Given the description of an element on the screen output the (x, y) to click on. 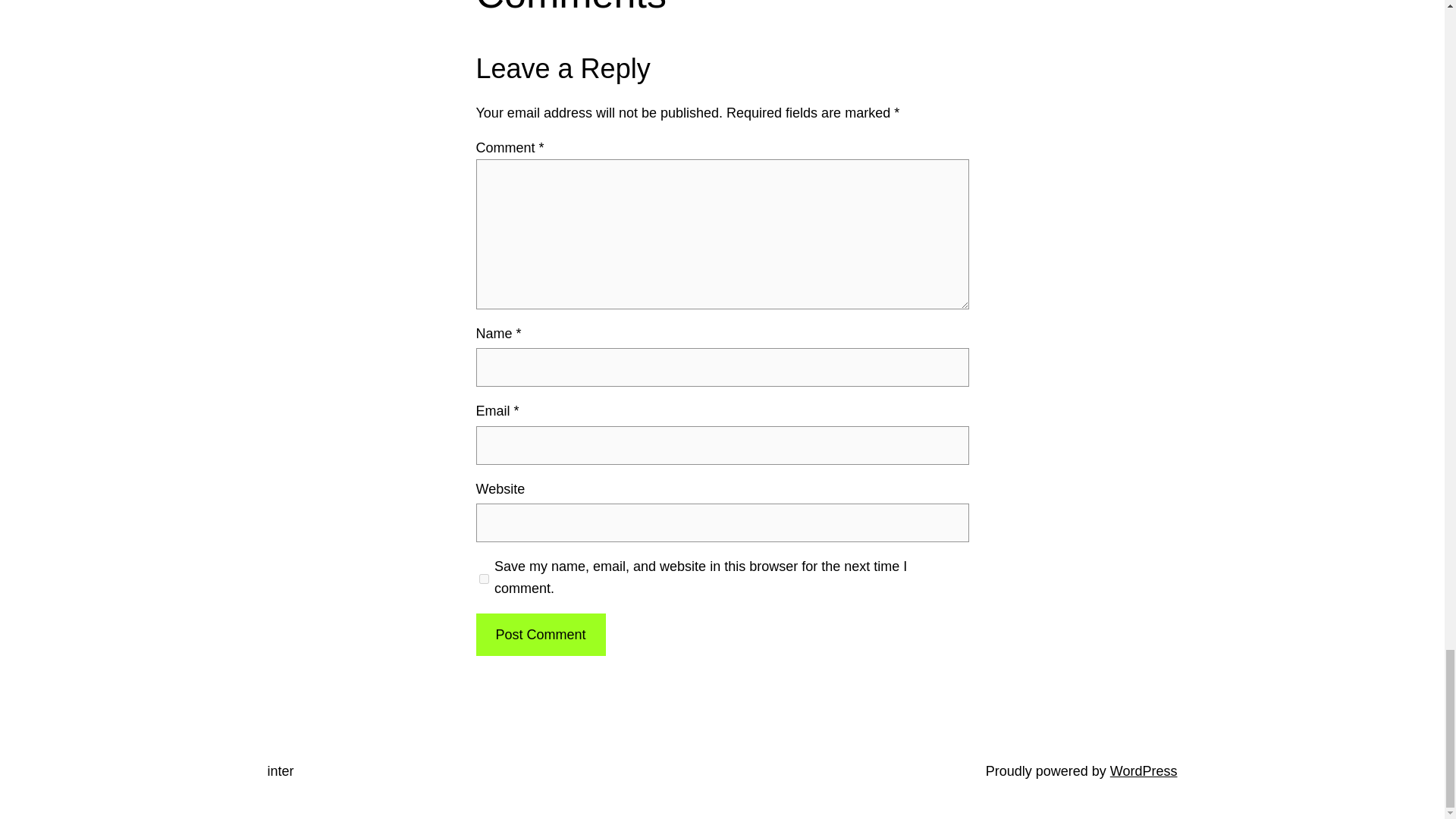
WordPress (1143, 770)
Post Comment (540, 634)
Post Comment (540, 634)
inter (280, 770)
